Given the description of an element on the screen output the (x, y) to click on. 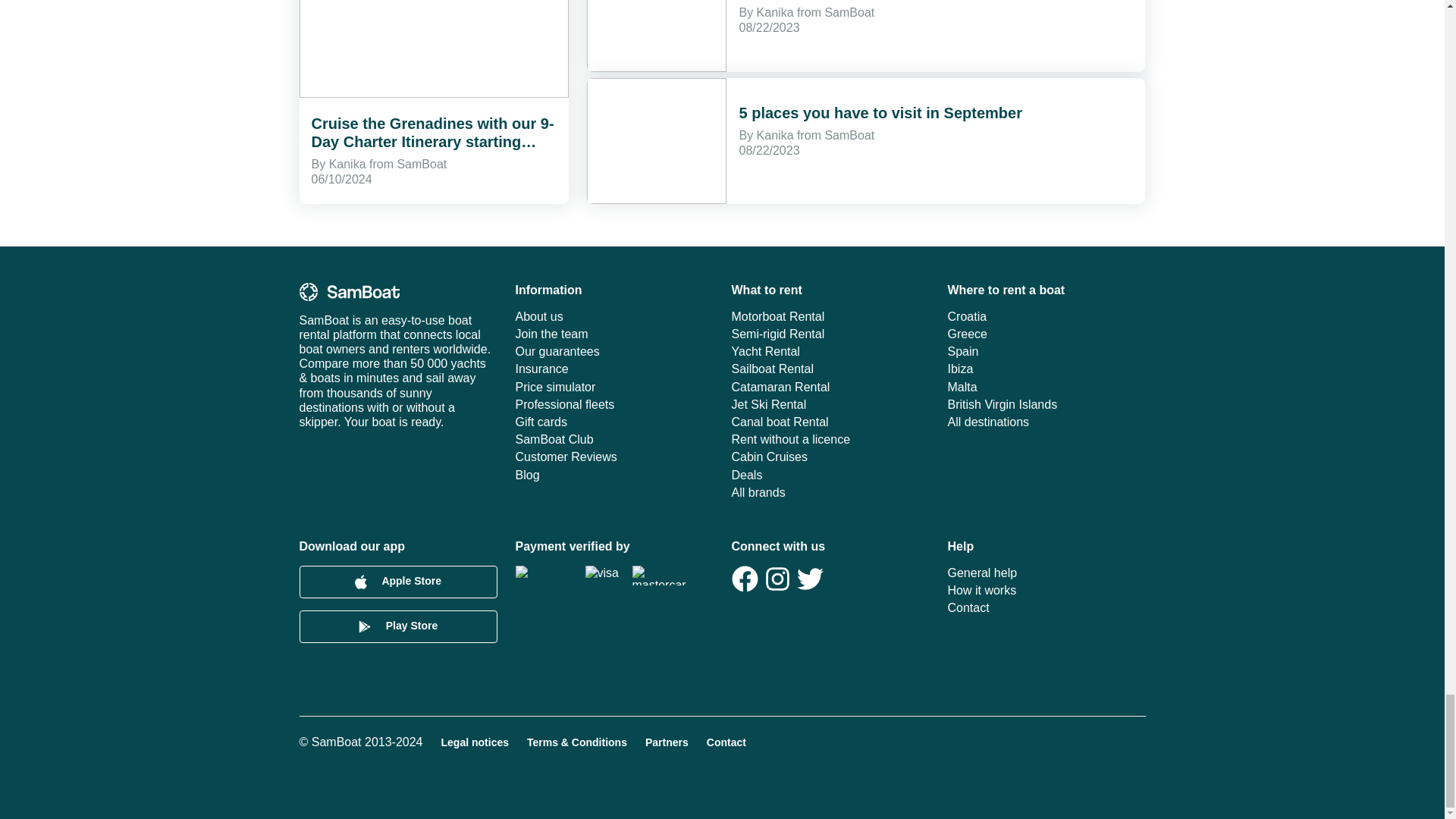
Professional fleets (614, 404)
About us (614, 316)
Blog (614, 474)
Boat rental (348, 291)
Kanika from SamBoat (816, 134)
Insurance (614, 368)
Semi-rigid Rental (829, 333)
Price simulator (614, 386)
Play Store (397, 626)
Our guarantees (614, 350)
Join the team (614, 333)
Motorboat Rental (829, 316)
Kanika from SamBoat (816, 11)
Apple Store (397, 581)
